Given the description of an element on the screen output the (x, y) to click on. 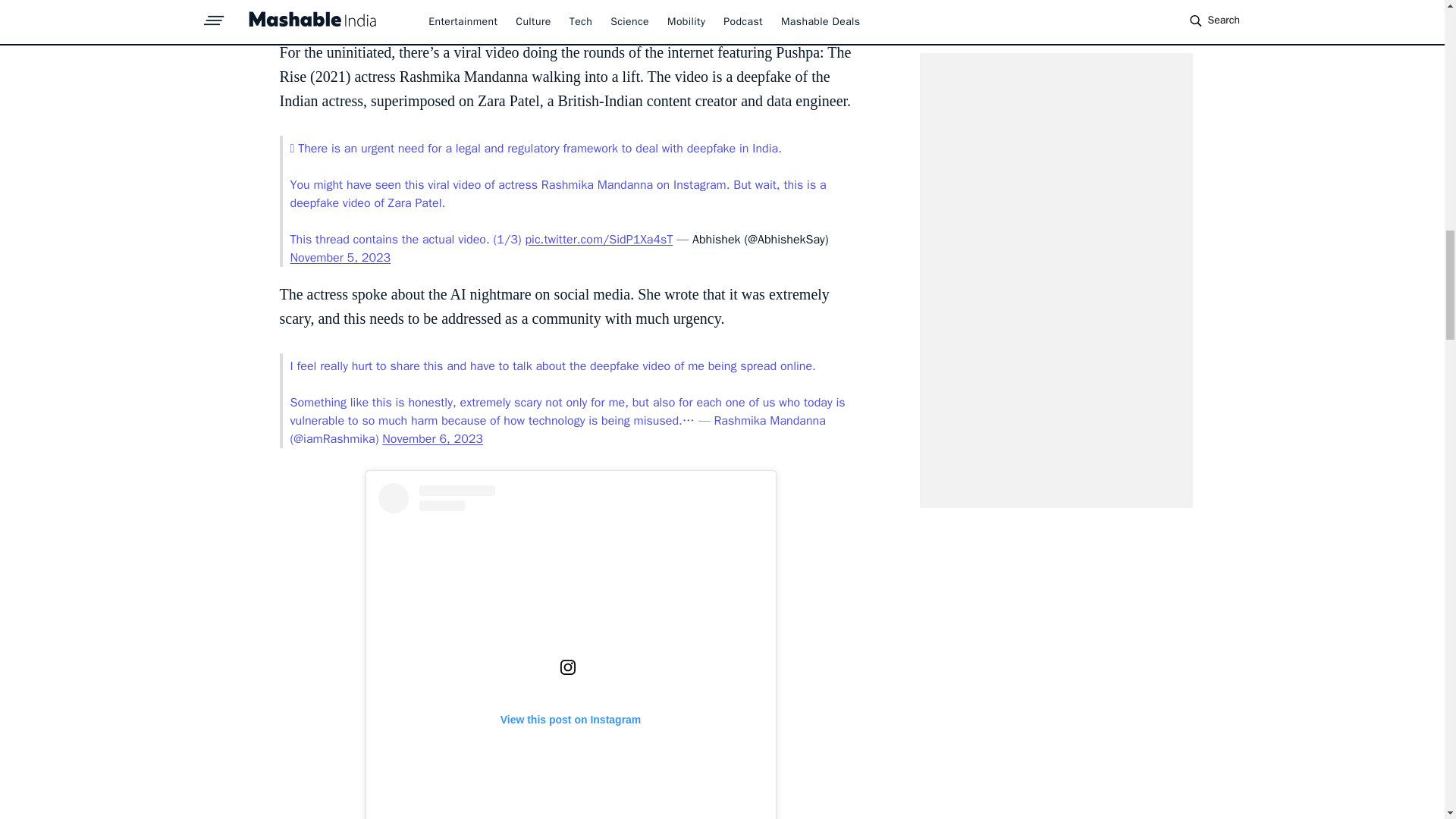
November 6, 2023 (432, 438)
November 5, 2023 (339, 257)
View this post on Instagram (569, 651)
